Given the description of an element on the screen output the (x, y) to click on. 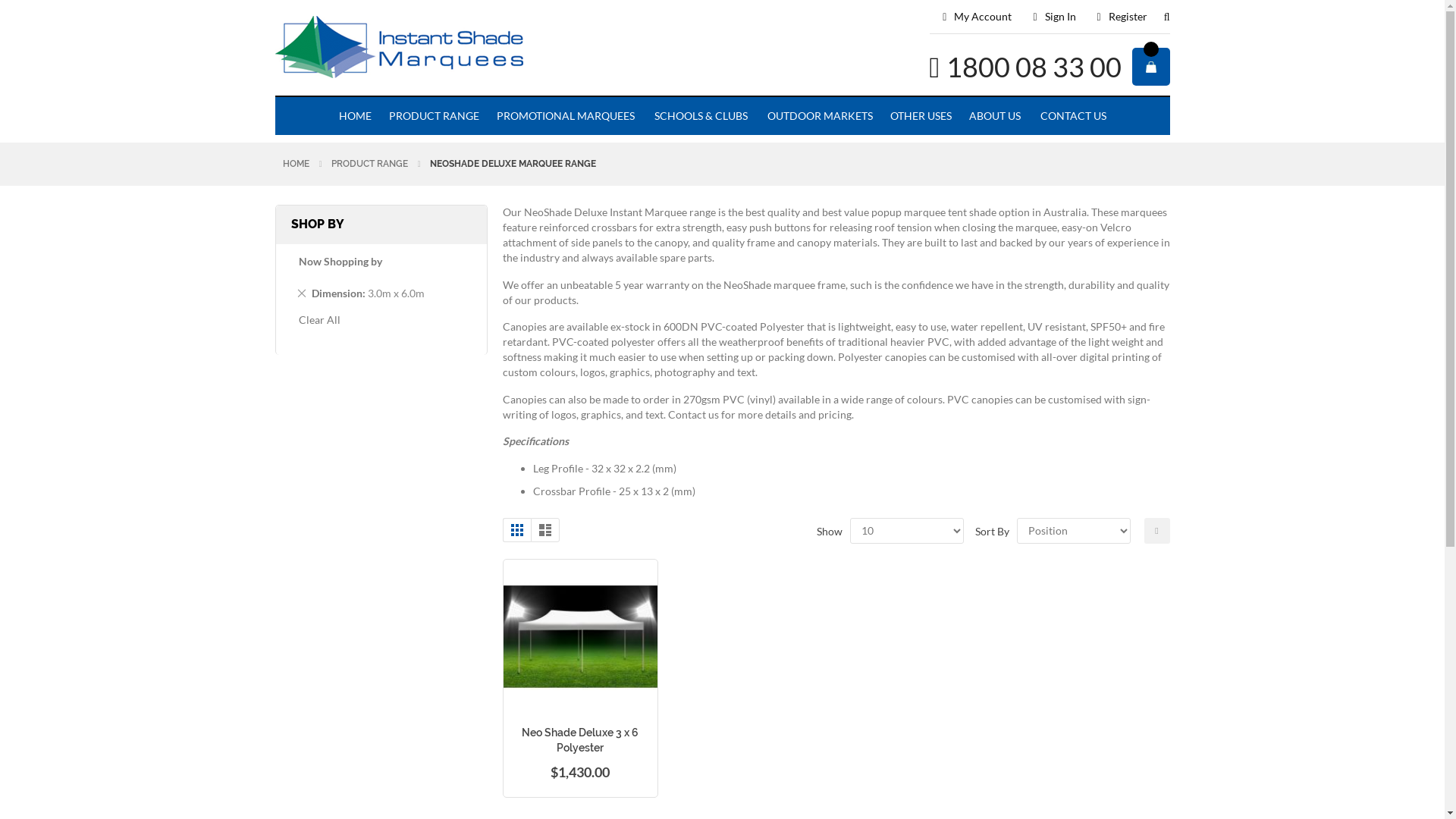
Set Descending Direction Element type: text (1156, 530)
PRODUCT RANGE Element type: text (369, 163)
ADD TO CART Element type: text (591, 709)
My Account Element type: text (976, 16)
Remove This Item Element type: text (301, 292)
List Element type: text (544, 529)
Search Element type: text (1158, 22)
PRODUCT RANGE Element type: text (433, 115)
My Cart Element type: text (1150, 66)
Instant Shade Marquees Element type: hover (453, 48)
Clear All Element type: text (319, 319)
Neo Shade Deluxe 3 x 6 Polyester Element type: text (579, 739)
PROMOTIONAL MARQUEES Element type: text (564, 115)
OTHER USES Element type: text (920, 115)
 SCHOOLS & CLUBS Element type: text (699, 115)
 CONTACT US Element type: text (1071, 115)
HOME Element type: text (295, 163)
Register Element type: text (1122, 16)
HOME Element type: text (354, 115)
ABOUT US Element type: text (994, 115)
Contact us Element type: text (692, 413)
1800 08 33 00 Element type: text (1033, 66)
 OUTDOOR MARKETS Element type: text (817, 115)
Sign In Element type: text (1053, 16)
